Given the description of an element on the screen output the (x, y) to click on. 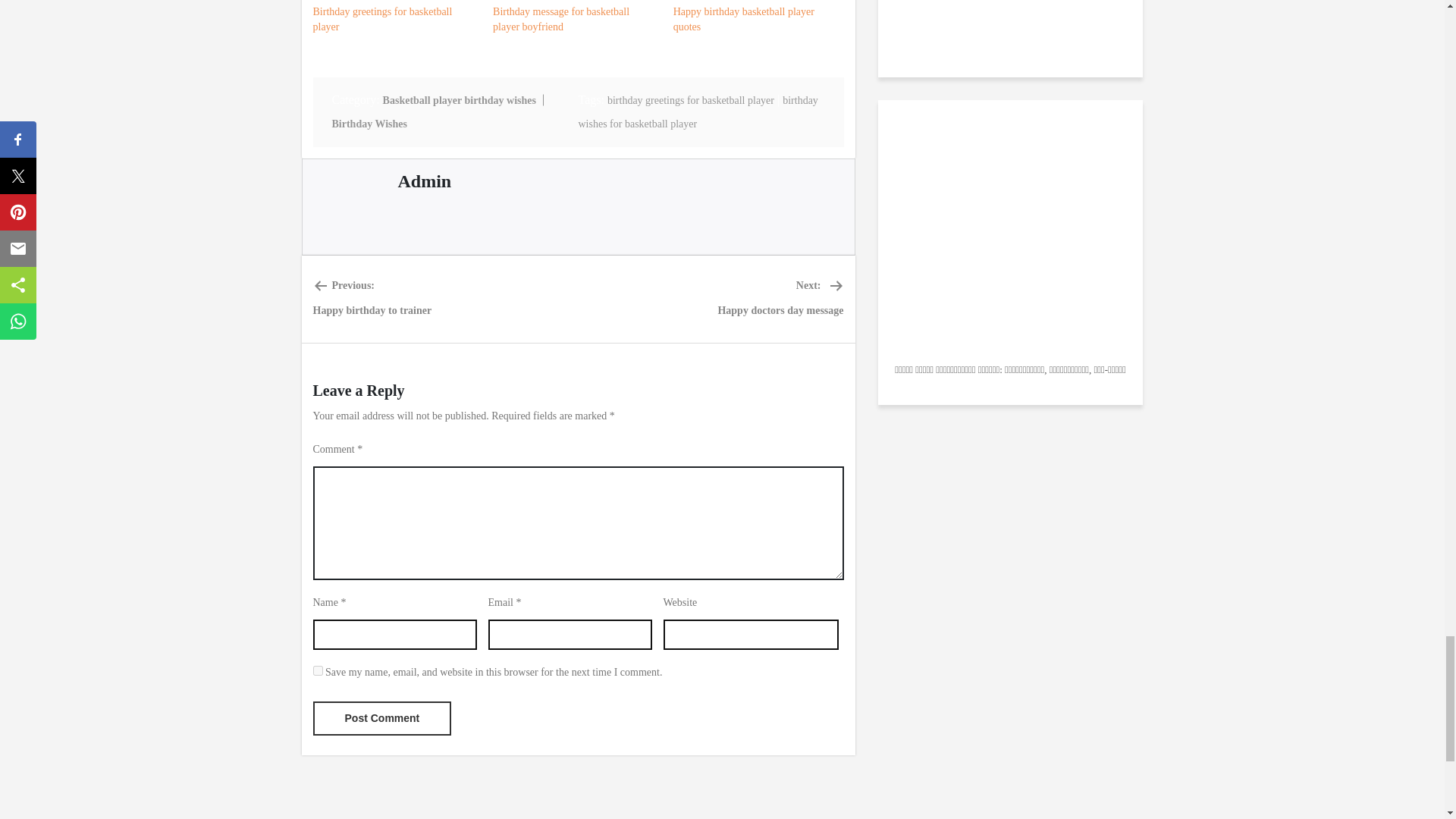
Basketball player birthday wishes (458, 100)
Happy birthday basketball player quotes (755, 19)
Birthday Wishes (369, 123)
Admin (780, 299)
Post Comment (424, 180)
yes (382, 718)
birthday wishes for basketball player (317, 670)
Birthday greetings for basketball player (697, 112)
Post Comment (395, 19)
Birthday message for basketball player boyfriend (382, 718)
birthday greetings for basketball player (575, 19)
